Given the description of an element on the screen output the (x, y) to click on. 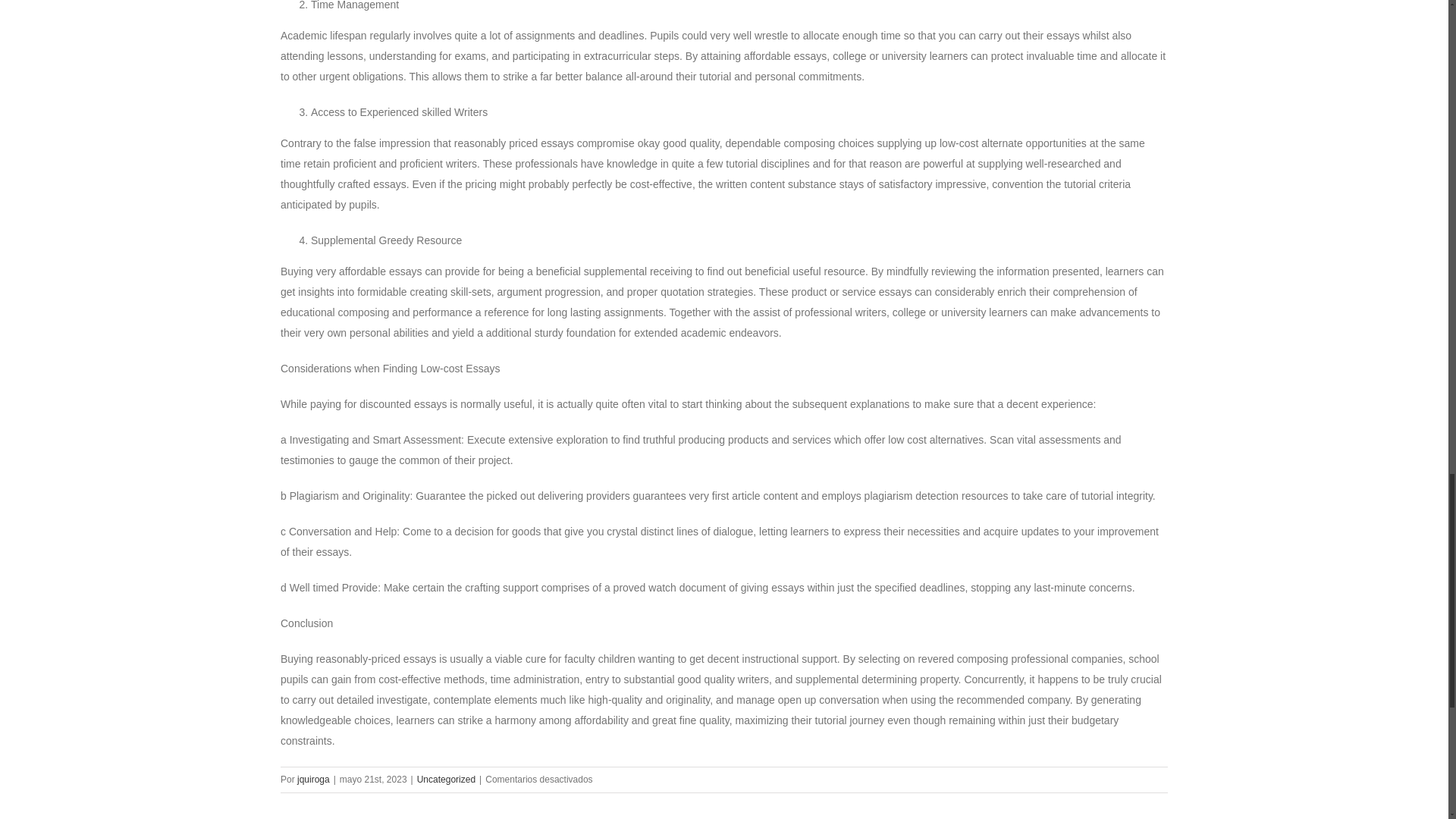
jquiroga (313, 778)
Entradas de jquiroga (313, 778)
Uncategorized (446, 778)
